Given the description of an element on the screen output the (x, y) to click on. 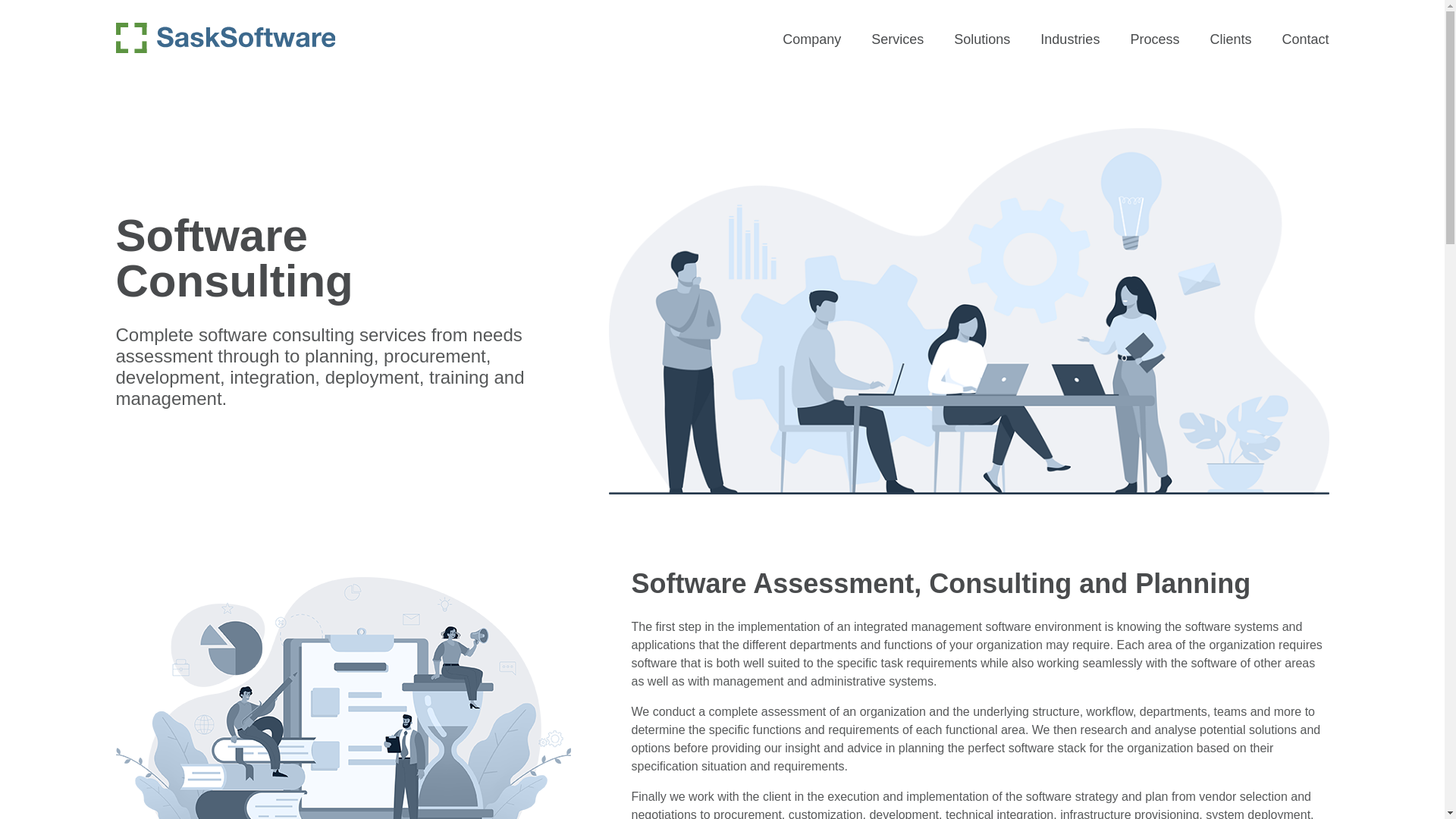
Process (1154, 39)
Company (812, 39)
Clients (1229, 39)
Industries (1070, 39)
Contact (1304, 39)
Services (896, 39)
Solutions (981, 39)
